Given the description of an element on the screen output the (x, y) to click on. 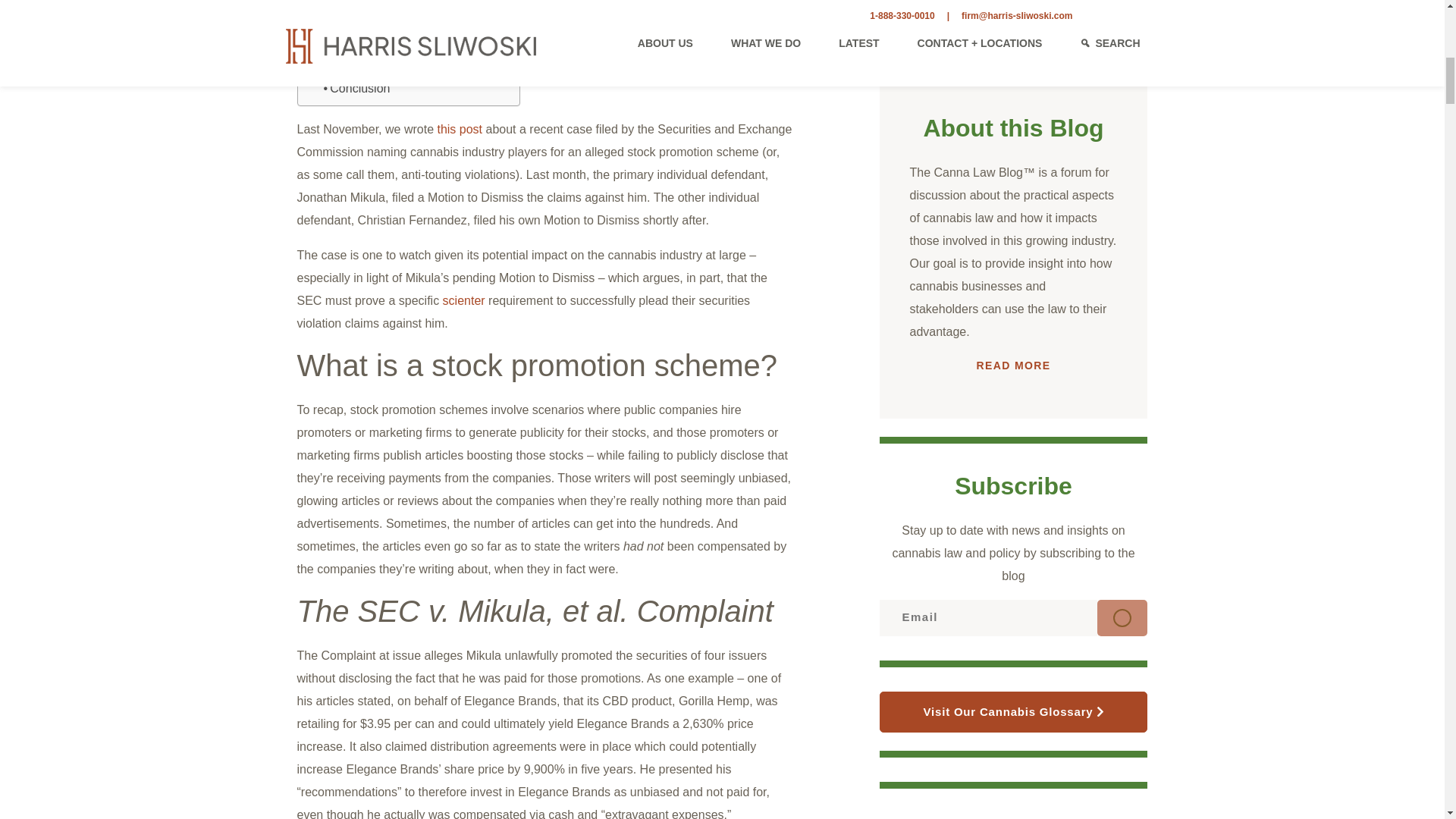
Should scienter be required? (403, 68)
What is a stock promotion scheme? (403, 10)
The SEC v. Mikula, et al. Complaint (403, 30)
Conclusion (356, 88)
Subscribe (1122, 617)
